Given the description of an element on the screen output the (x, y) to click on. 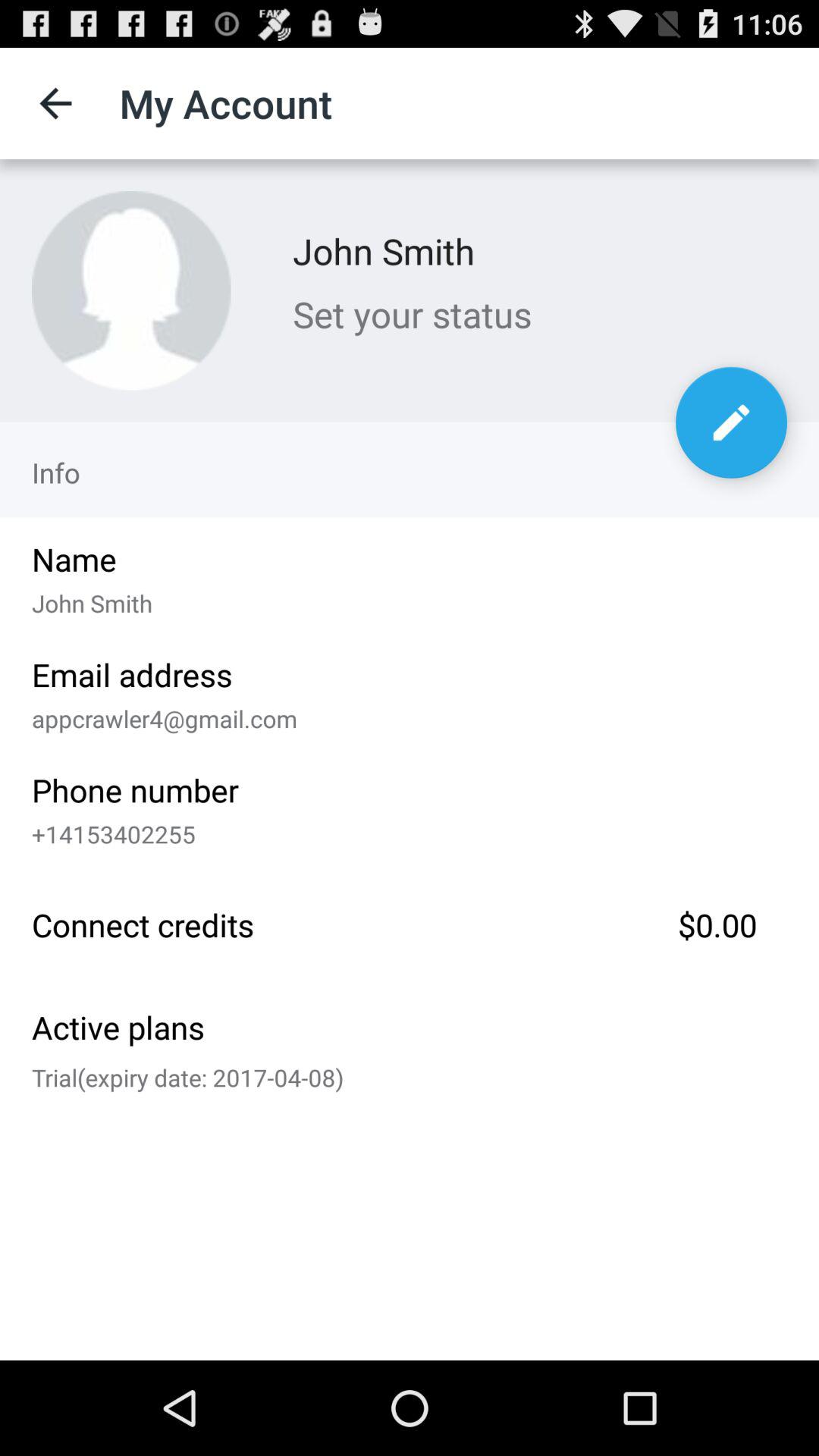
set your photo (130, 290)
